Given the description of an element on the screen output the (x, y) to click on. 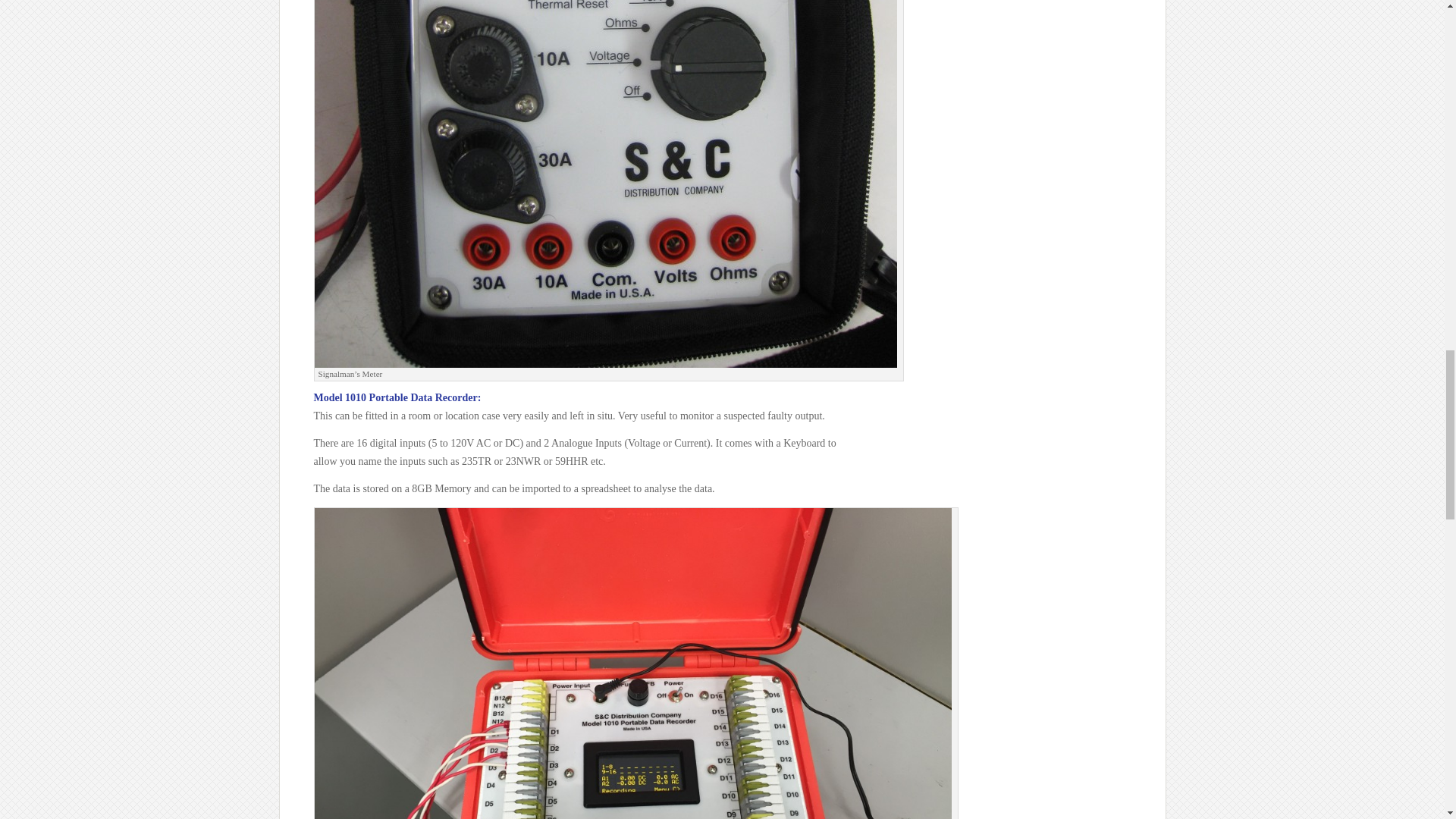
Model 1010 Portable Data Recorder: (397, 397)
